Given the description of an element on the screen output the (x, y) to click on. 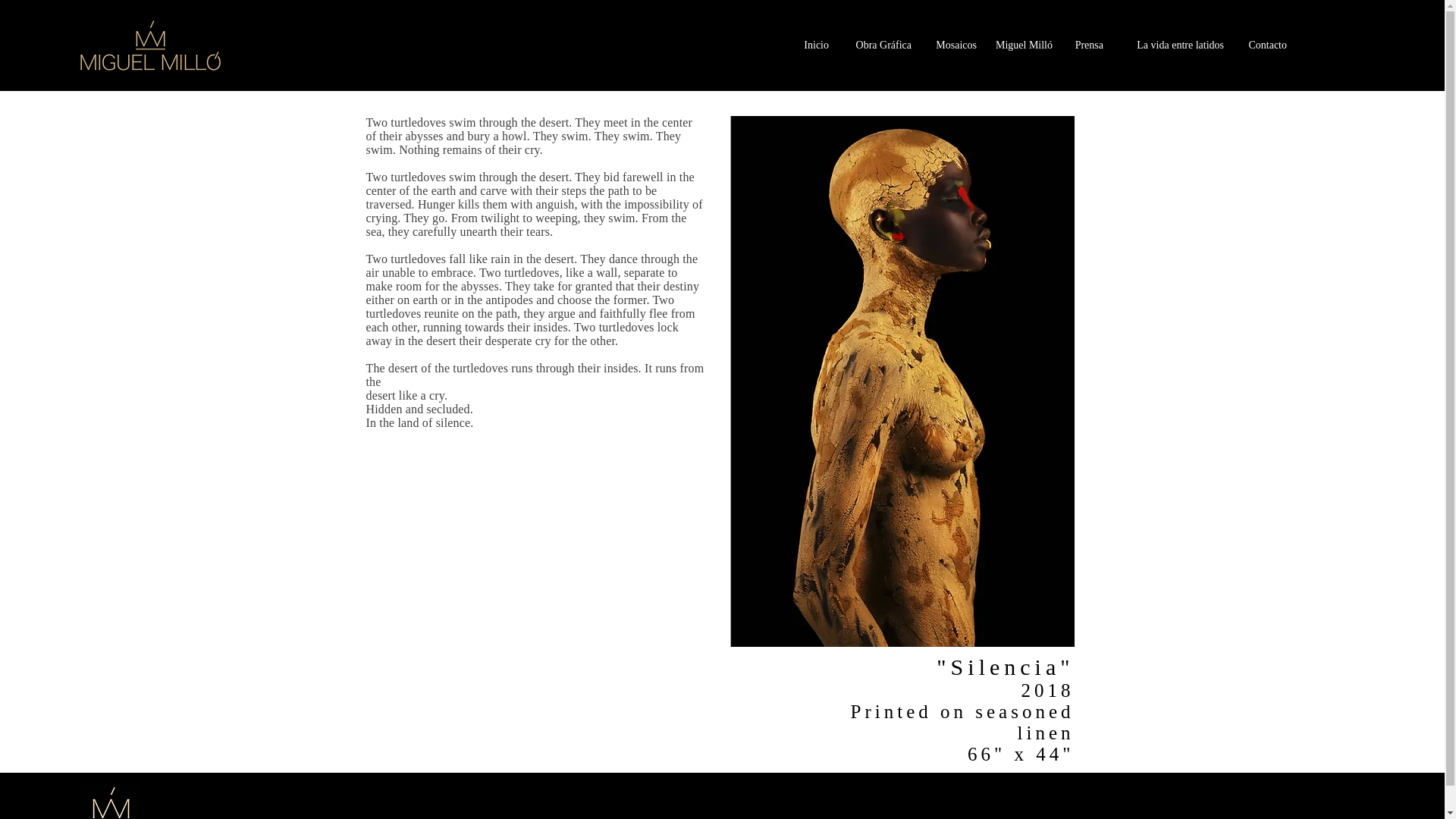
Contacto (1262, 45)
La vida entre latidos (1170, 45)
Inicio (814, 45)
Mosaicos (951, 45)
Prensa (1084, 45)
